Given the description of an element on the screen output the (x, y) to click on. 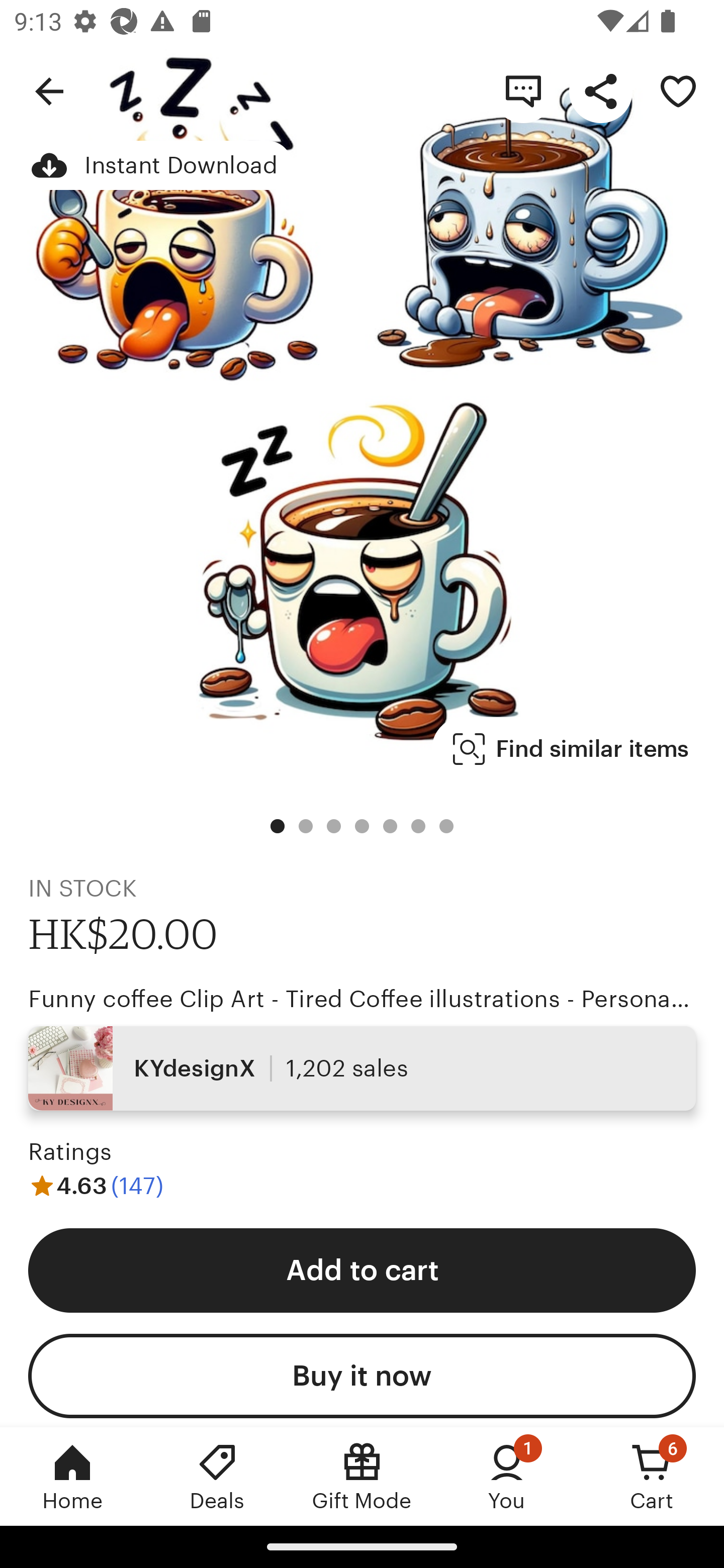
Navigate up (49, 90)
Contact shop (523, 90)
Share (600, 90)
Find similar items (571, 748)
KYdesignX 1,202 sales (361, 1067)
Ratings (70, 1151)
4.63 (147) (95, 1185)
Add to cart (361, 1269)
Buy it now (361, 1375)
Deals (216, 1475)
Gift Mode (361, 1475)
You, 1 new notification You (506, 1475)
Cart, 6 new notifications Cart (651, 1475)
